Given the description of an element on the screen output the (x, y) to click on. 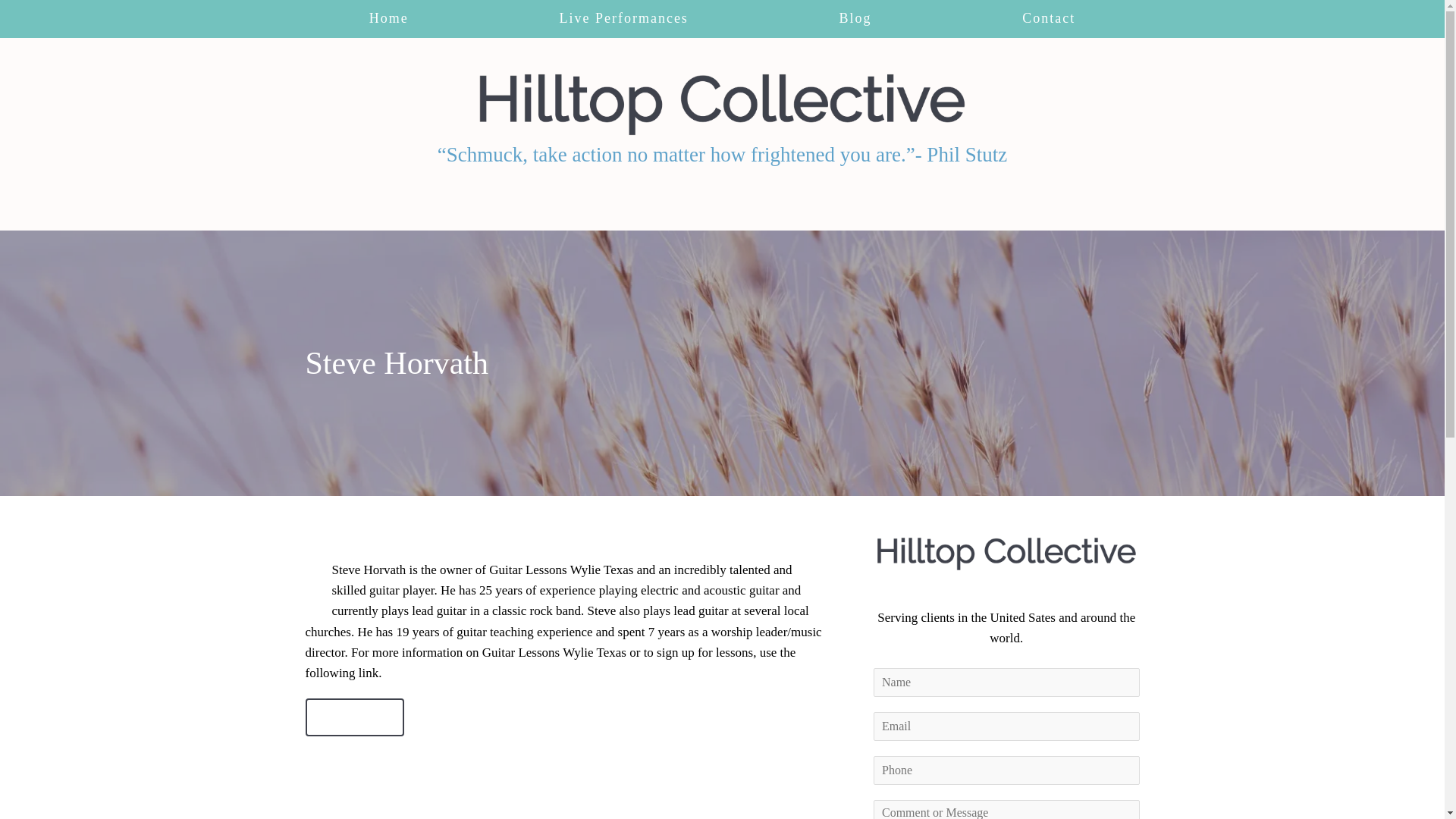
Contact (354, 717)
Home (388, 18)
Contact (1049, 18)
Live Performances (622, 18)
Blog (854, 18)
